Given the description of an element on the screen output the (x, y) to click on. 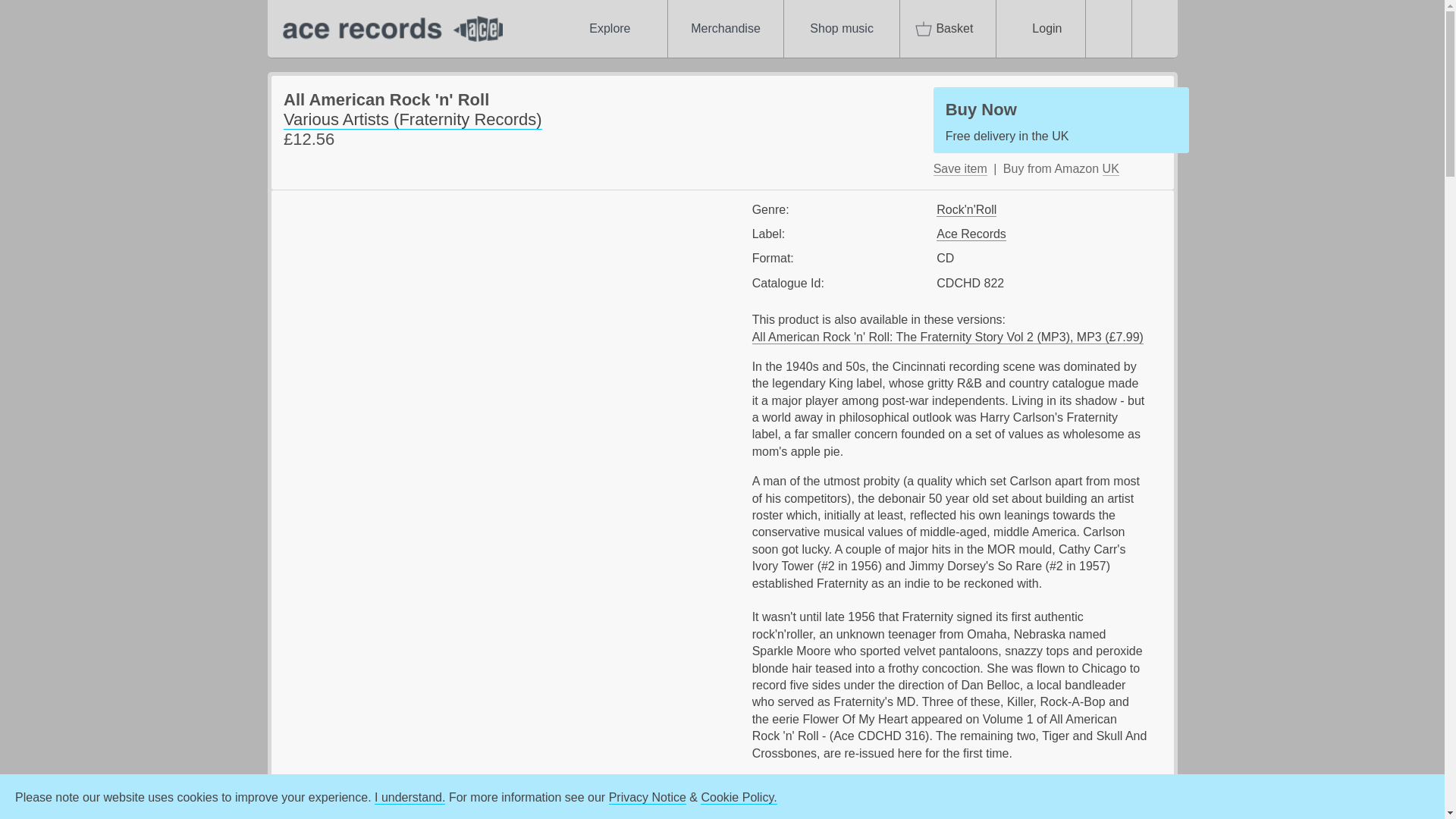
Merchandise (725, 28)
Shop music (841, 28)
Ace Records (1061, 119)
Explore (388, 28)
Ace Records (609, 28)
Rock'n'Roll (971, 233)
Save item (965, 210)
Login (960, 169)
Basket (1039, 28)
